Given the description of an element on the screen output the (x, y) to click on. 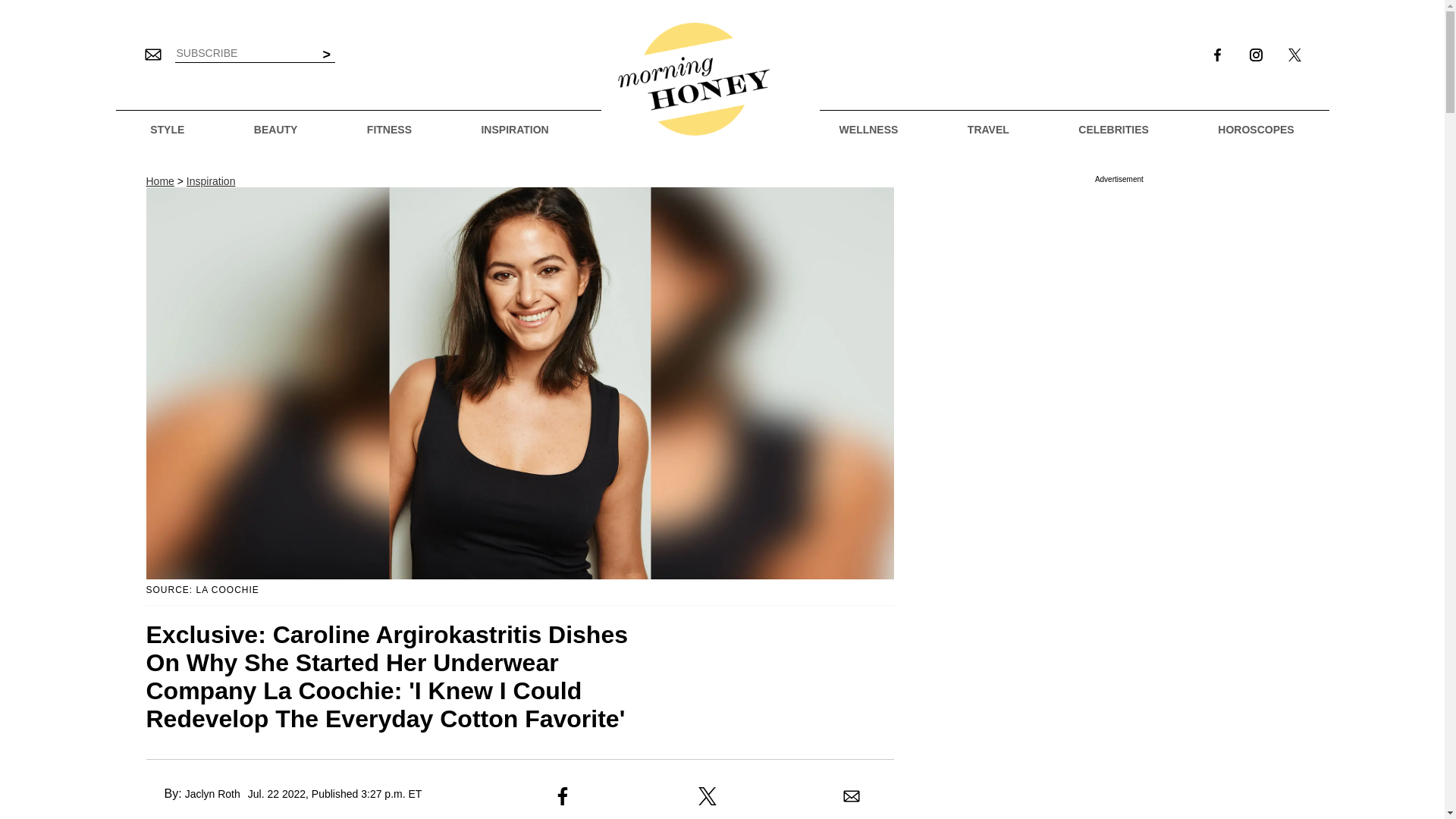
Home (159, 181)
LINK TO X (1293, 54)
Link to Instagram (1255, 55)
Link to Email (152, 54)
Link to Facebook (1217, 55)
LINK TO INSTAGRAM (1255, 55)
LINK TO FACEBOOK (1217, 55)
TRAVEL (988, 129)
Inspiration (210, 181)
STYLE (166, 129)
BEAUTY (276, 129)
FITNESS (389, 129)
Share to X (706, 796)
CELEBRITIES (1113, 129)
LINK TO FACEBOOK (1216, 54)
